Given the description of an element on the screen output the (x, y) to click on. 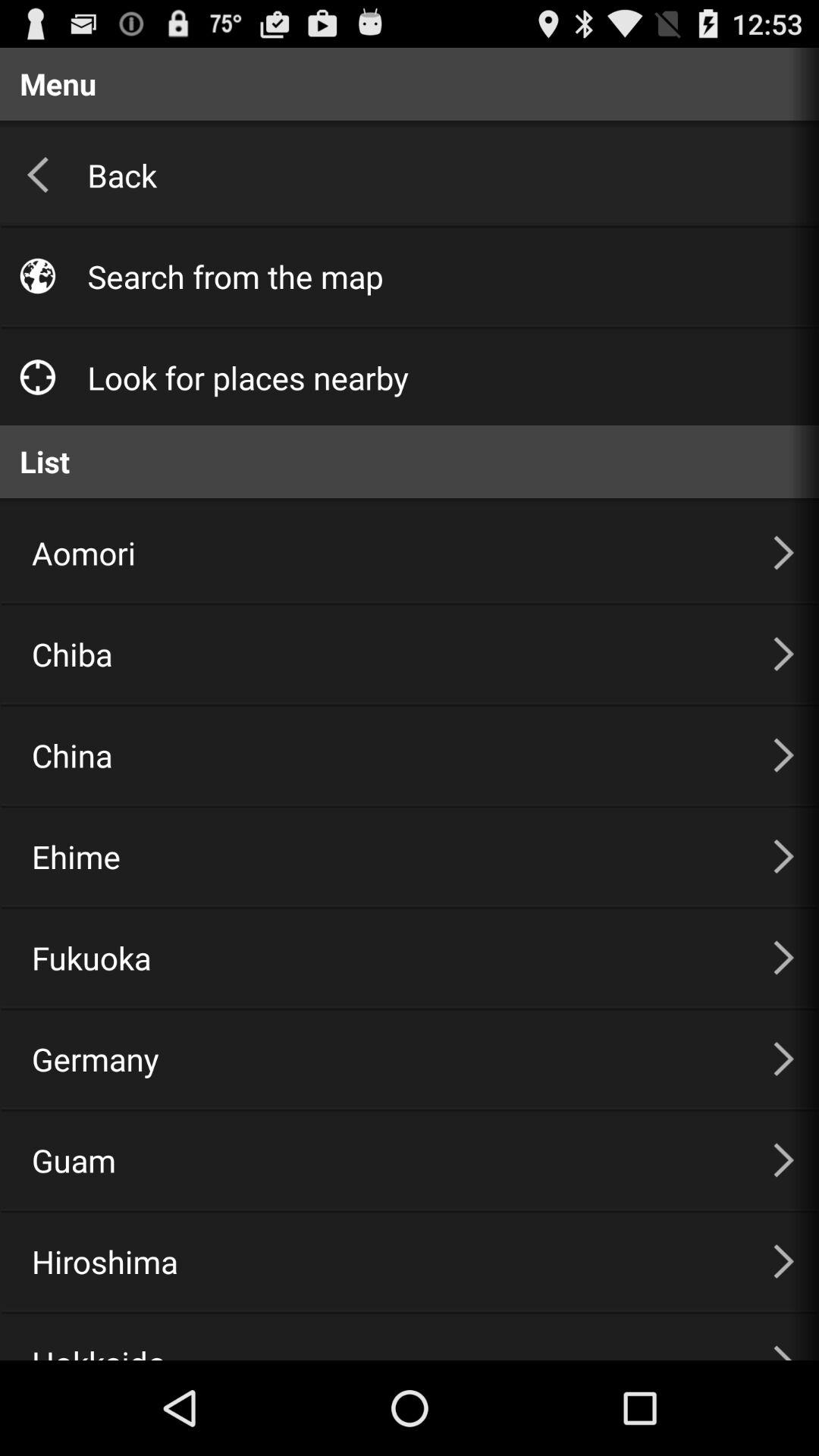
click the chiba (384, 653)
